Given the description of an element on the screen output the (x, y) to click on. 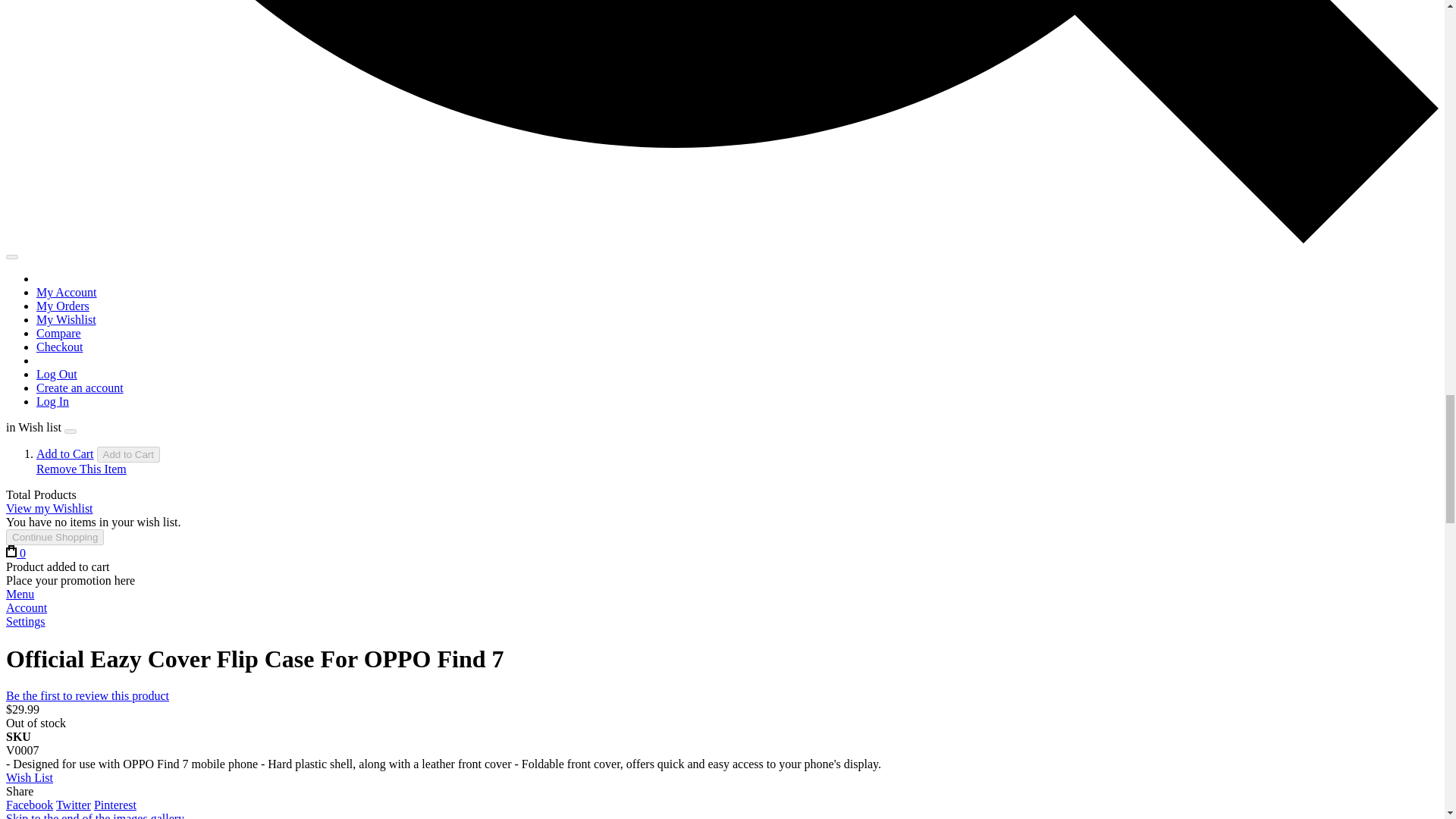
View my Wishlist (49, 508)
Remove This Item (81, 468)
